Given the description of an element on the screen output the (x, y) to click on. 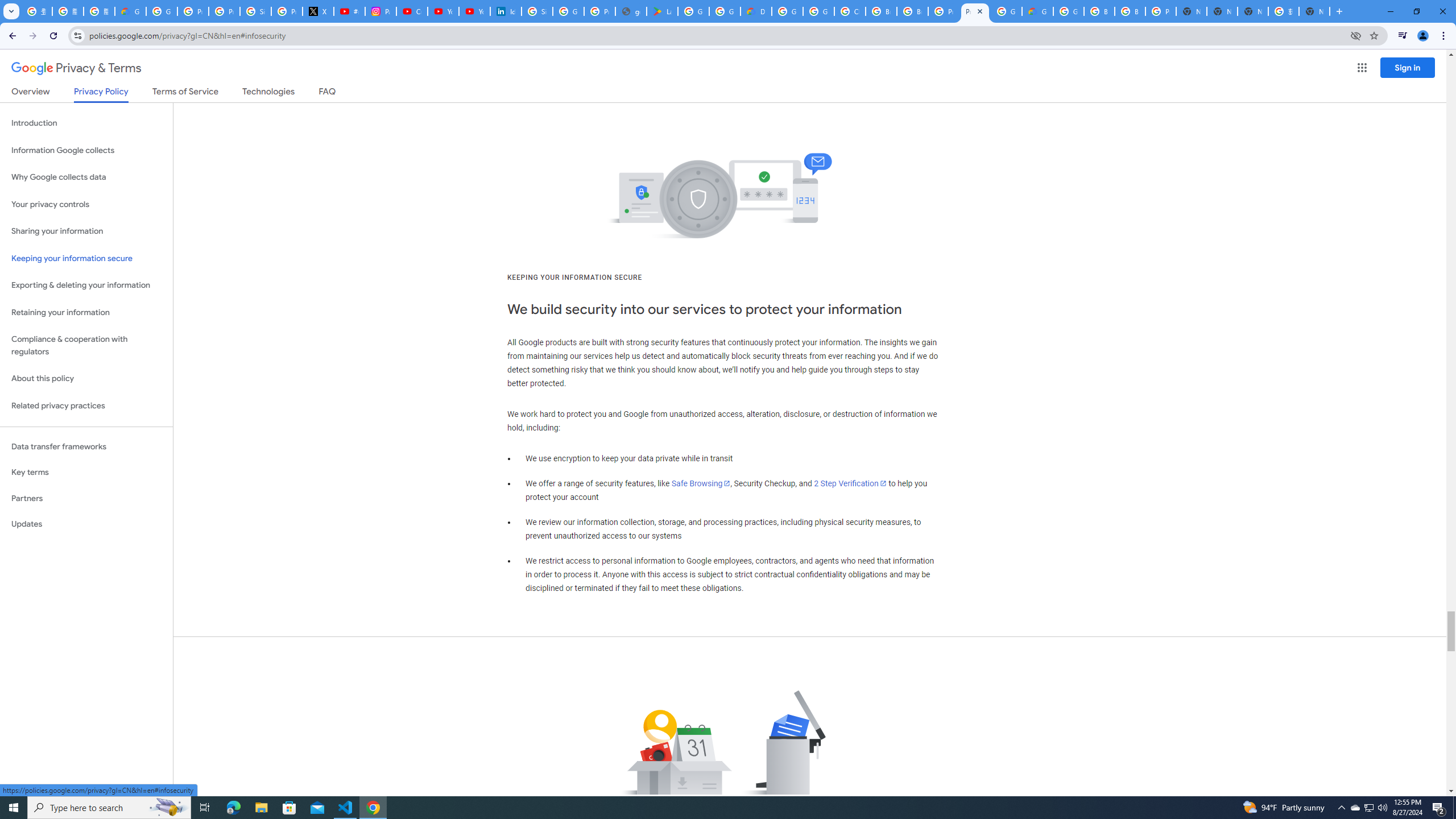
Google Cloud Platform (787, 11)
Your privacy controls (86, 204)
Google Cloud Platform (1005, 11)
Why Google collects data (86, 176)
Keeping your information secure (86, 258)
